Given the description of an element on the screen output the (x, y) to click on. 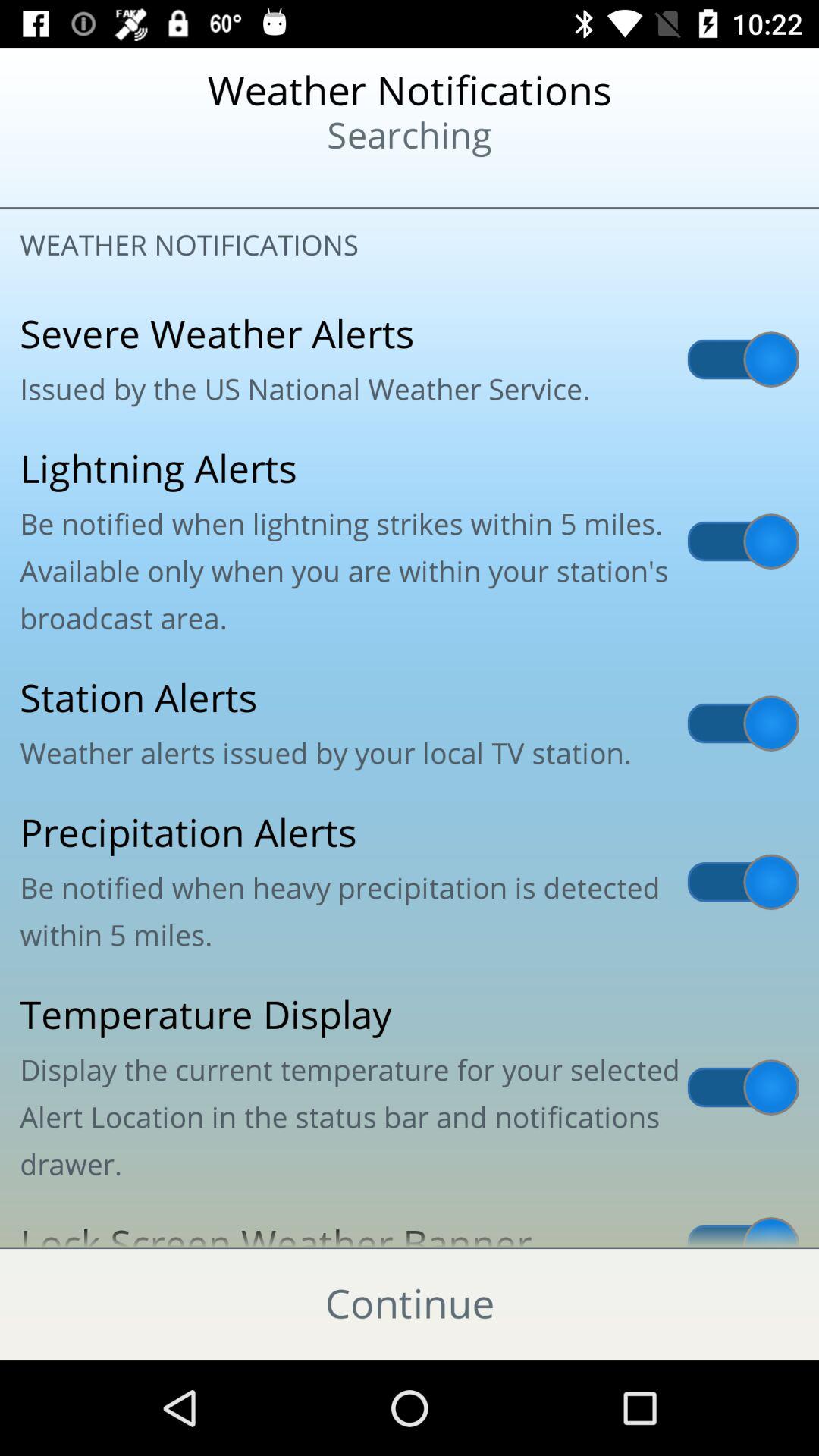
launch item next to searching item (99, 182)
